Given the description of an element on the screen output the (x, y) to click on. 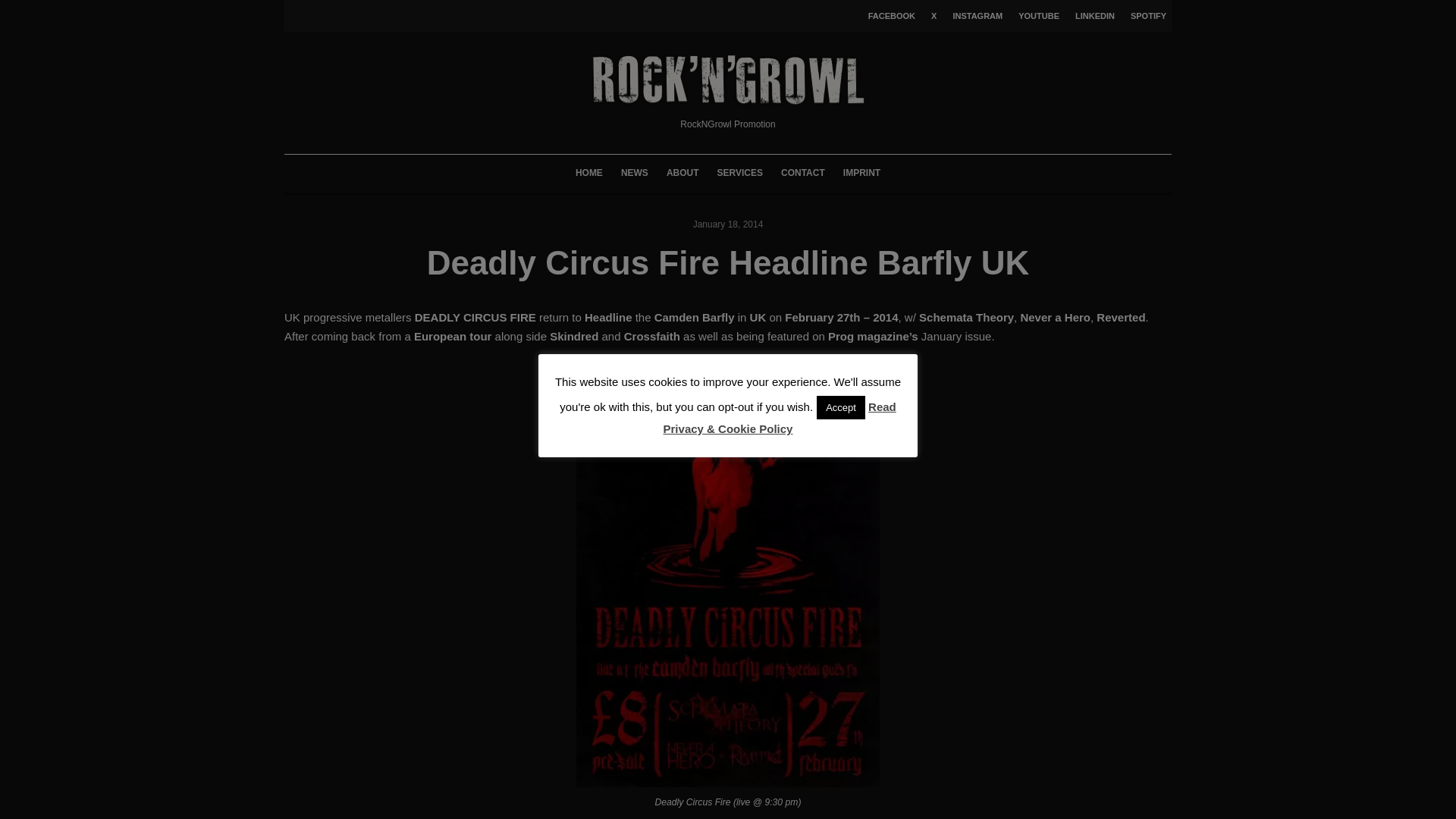
YOUTUBE (1035, 15)
INSTAGRAM (974, 15)
RockNGrowl Promotion (727, 92)
SPOTIFY (1145, 15)
HOME (588, 173)
CONTACT (802, 173)
NEWS (634, 173)
FACEBOOK (888, 15)
LINKEDIN (1091, 15)
IMPRINT (861, 173)
SERVICES (739, 173)
ABOUT (682, 173)
